Given the description of an element on the screen output the (x, y) to click on. 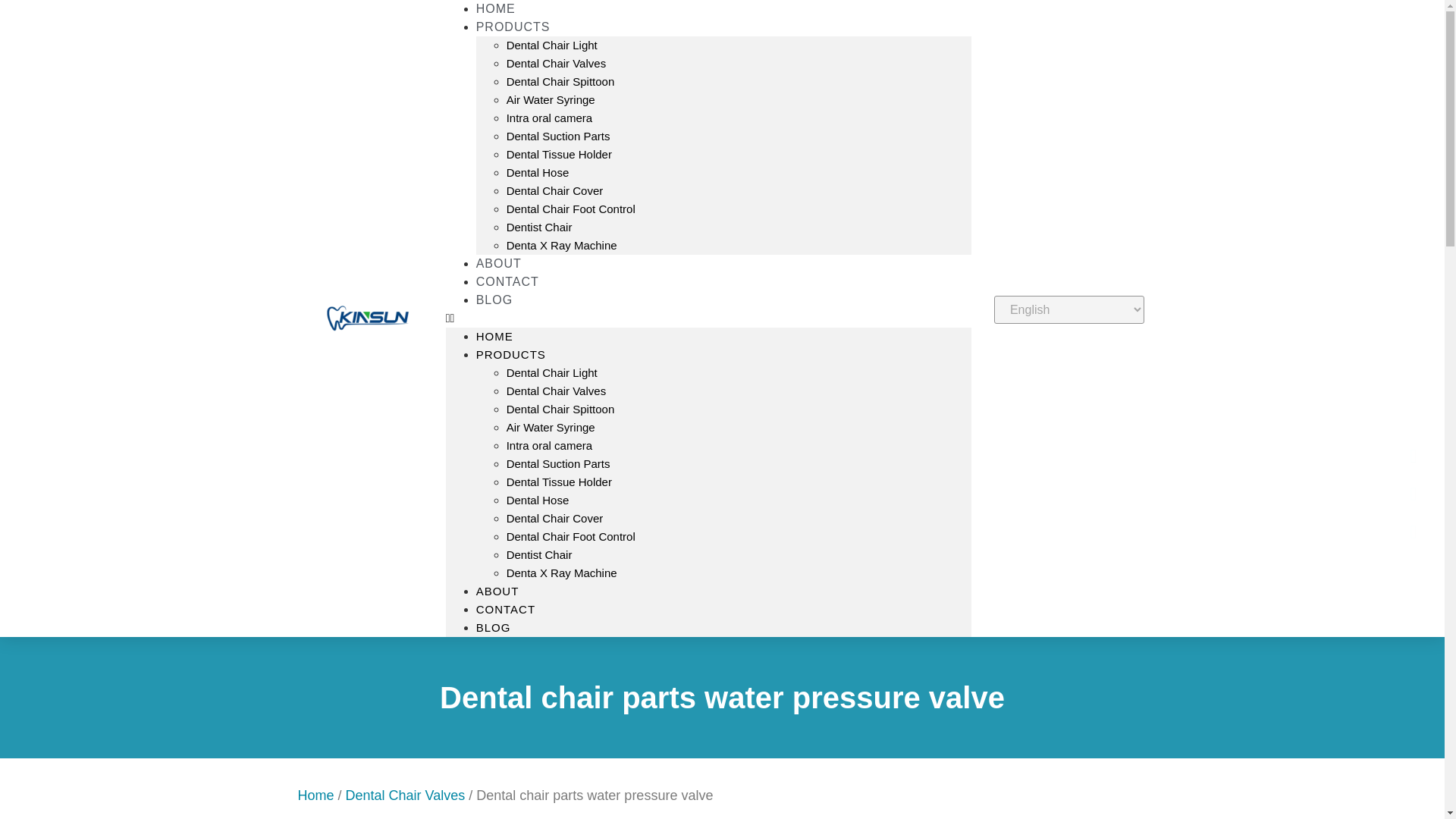
Dental Chair Foot Control (570, 208)
PRODUCTS (513, 26)
Denta X Ray Machine (561, 572)
Dental Hose (537, 172)
Dentist Chair (539, 226)
Dental Hose (537, 499)
CONTACT (505, 608)
Dental Chair Spittoon (560, 408)
Dental Chair Cover (555, 190)
Dental Chair Valves (555, 390)
ABOUT (497, 590)
PRODUCTS (511, 354)
Air Water Syringe (550, 99)
Dental Chair Light (551, 44)
HOME (494, 336)
